Given the description of an element on the screen output the (x, y) to click on. 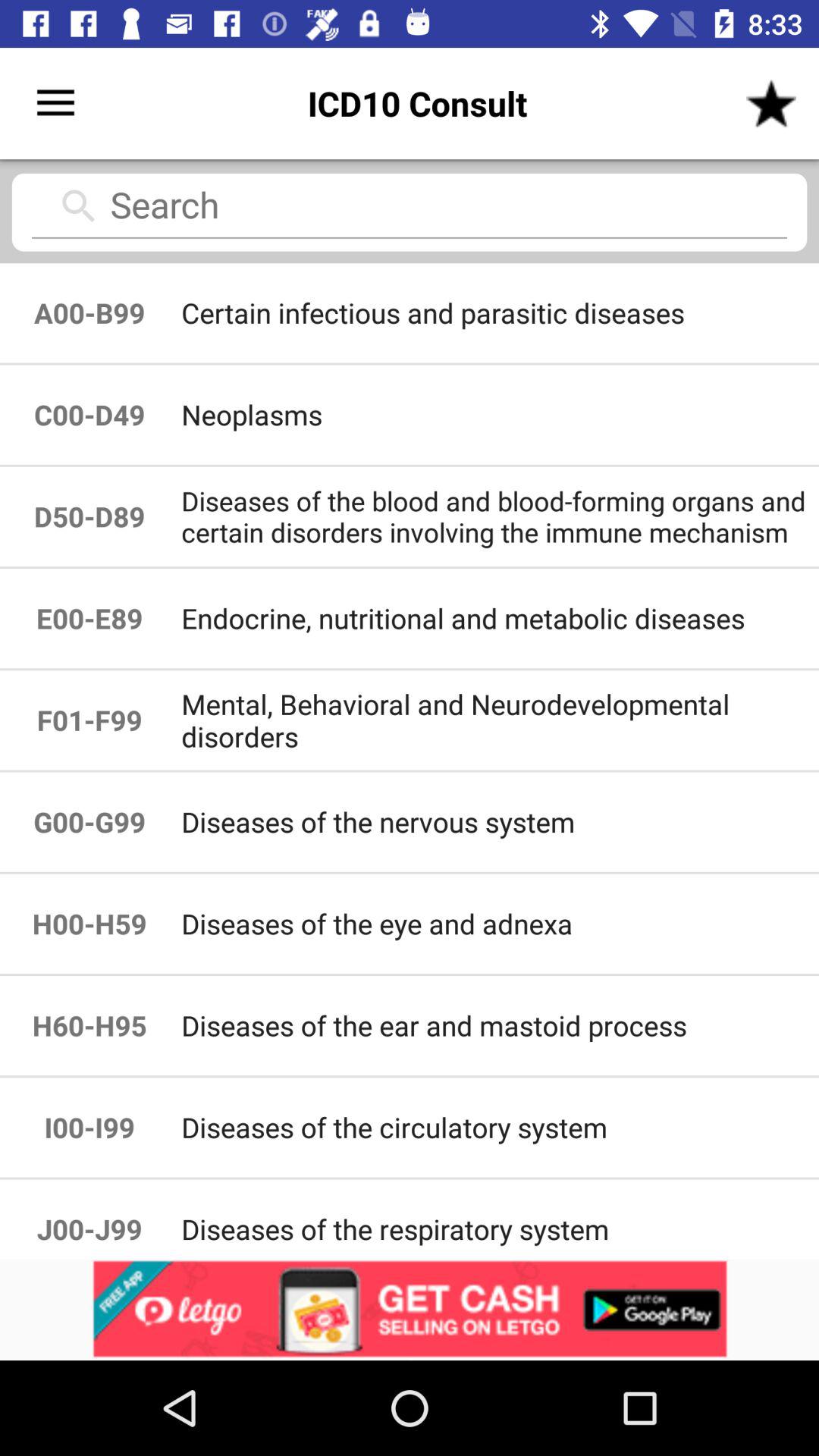
choose the icon to the left of the icd10 consult (55, 103)
